Given the description of an element on the screen output the (x, y) to click on. 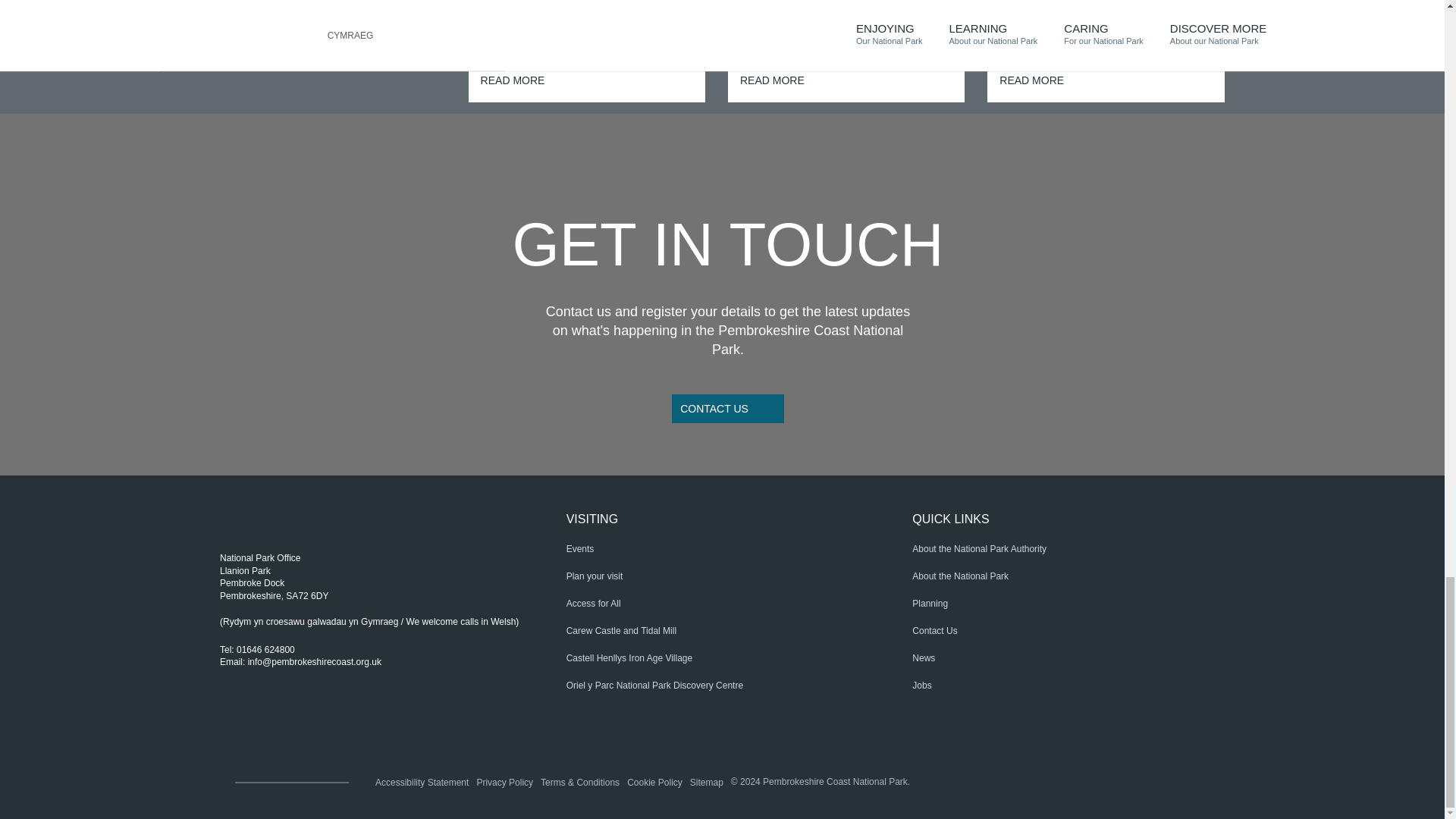
Twitter (232, 723)
Pembrokeshire Coast (295, 523)
Facebook (270, 723)
Youtube (346, 723)
Instagram (308, 723)
